Given the description of an element on the screen output the (x, y) to click on. 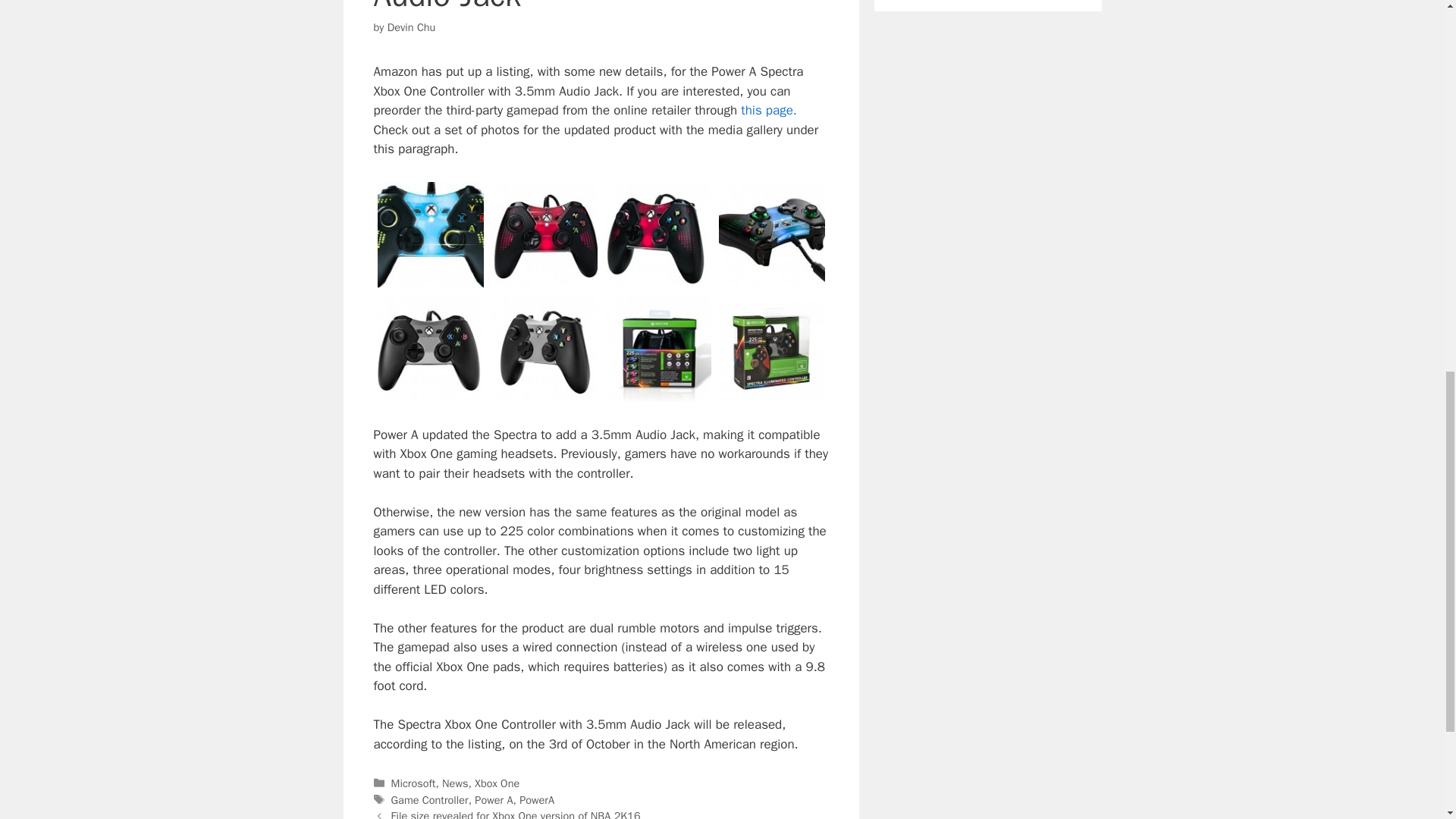
File size revealed for Xbox One version of NBA 2K16 (515, 814)
Xbox One (496, 783)
View all posts by Devin Chu (411, 27)
Power A (493, 799)
Devin Chu (411, 27)
News (454, 783)
this page. (768, 109)
Microsoft (413, 783)
Game Controller (429, 799)
PowerA (536, 799)
